Given the description of an element on the screen output the (x, y) to click on. 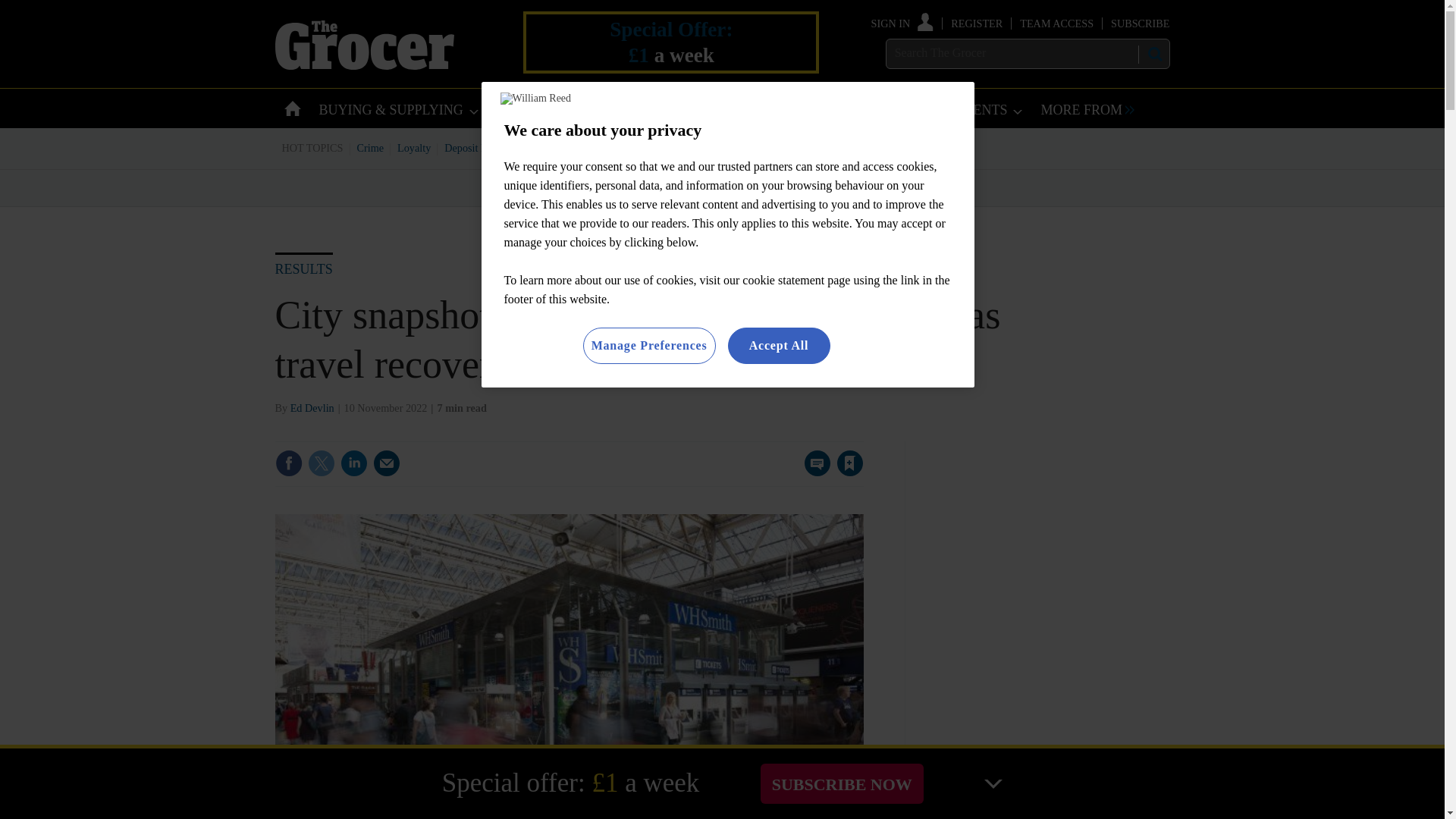
Email this article (386, 462)
SIGN IN (902, 23)
Share this on Linked in (352, 462)
Loyalty (414, 147)
TEAM ACCESS (1056, 23)
Cost of Living Crisis (699, 147)
SEARCH (1153, 53)
No comments (812, 472)
Share this on Twitter (320, 462)
Vaping (774, 147)
